Given the description of an element on the screen output the (x, y) to click on. 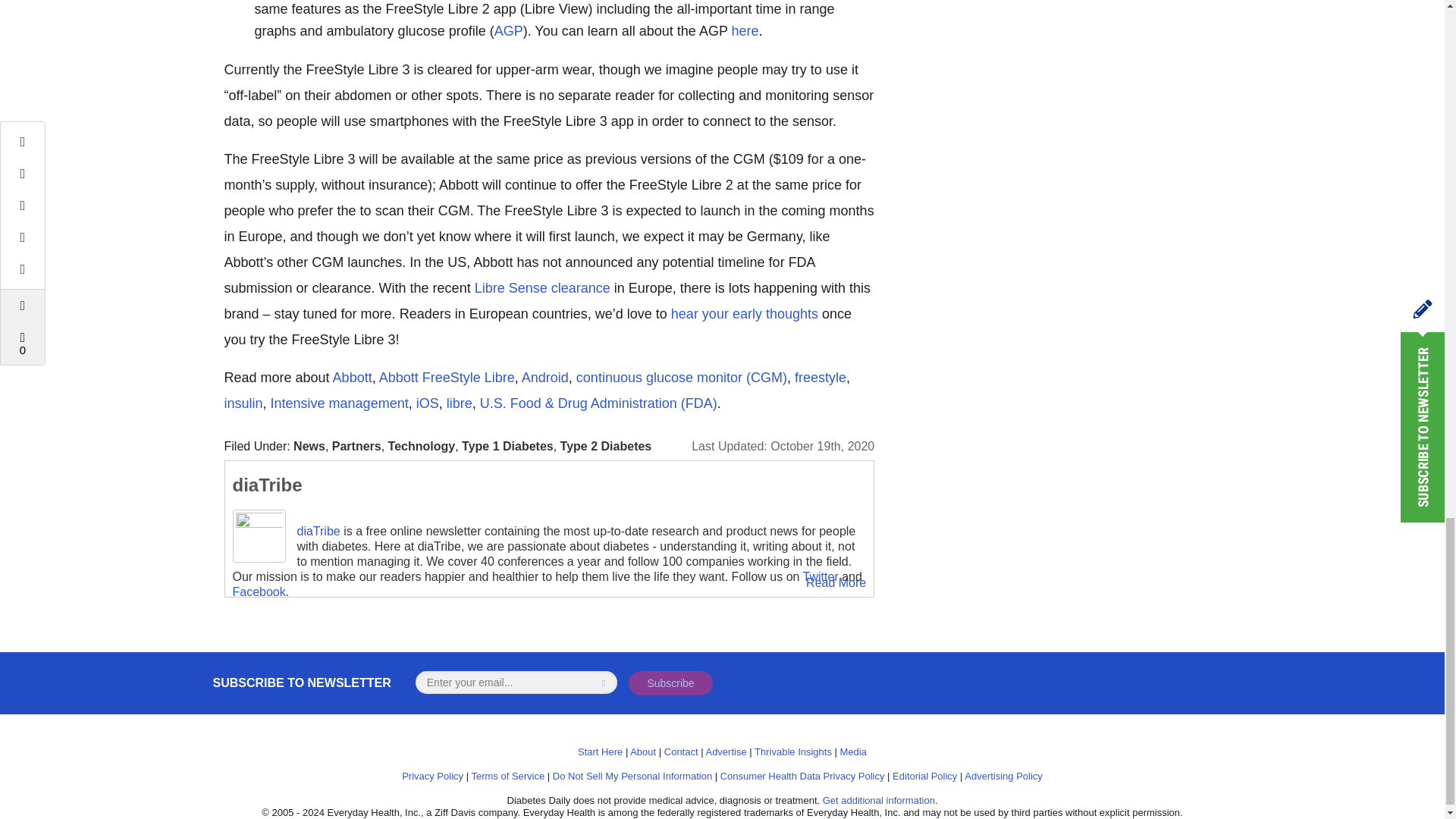
All posts by diaTribe (266, 485)
